Given the description of an element on the screen output the (x, y) to click on. 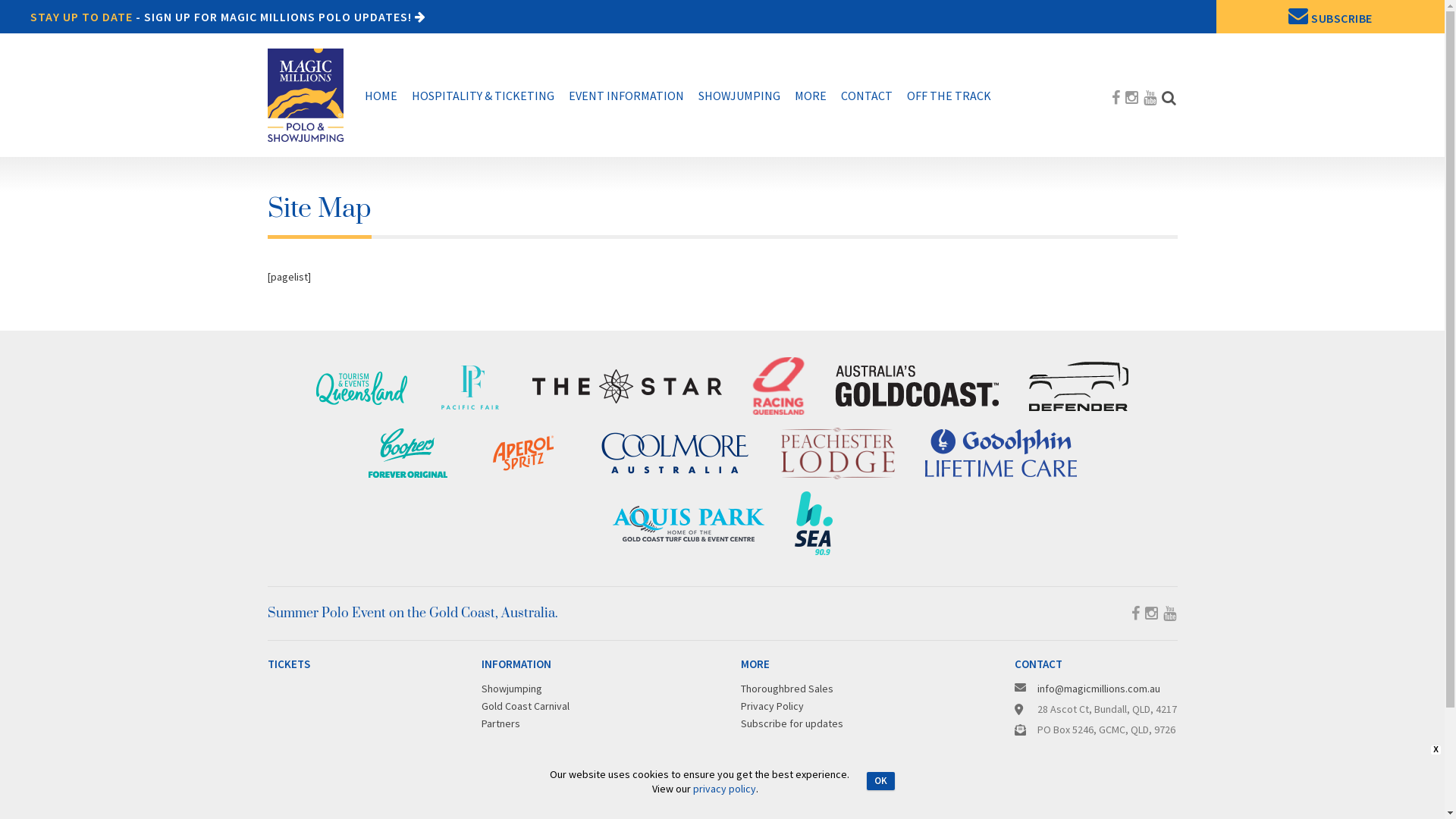
OK Element type: text (880, 780)
Privacy Policy Element type: text (771, 705)
SHOWJUMPING Element type: text (738, 95)
OFF THE TRACK Element type: text (948, 95)
Facebook Element type: hover (1135, 613)
HOSPITALITY & TICKETING Element type: text (481, 95)
Instagram Element type: hover (1131, 97)
SUBSCRIBE Element type: text (1330, 16)
privacy policy Element type: text (724, 787)
Partners Element type: text (500, 723)
YouTube Element type: hover (1149, 97)
Subscribe for updates Element type: text (791, 723)
Showjumping Element type: text (511, 688)
Search Element type: hover (1168, 97)
P +61 7 5504 1200 Element type: text (1076, 749)
Facebook Element type: hover (1115, 97)
CONTACT Element type: text (865, 95)
EVENT INFORMATION Element type: text (626, 95)
info@magicmillions.com.au Element type: text (1098, 688)
Magic Millions Element type: hover (304, 94)
HOME Element type: text (379, 95)
MORE Element type: text (810, 95)
Gold Coast Carnival Element type: text (525, 705)
Thoroughbred Sales Element type: text (786, 688)
YouTube Element type: hover (1169, 613)
Instagram Element type: hover (1151, 613)
